Given the description of an element on the screen output the (x, y) to click on. 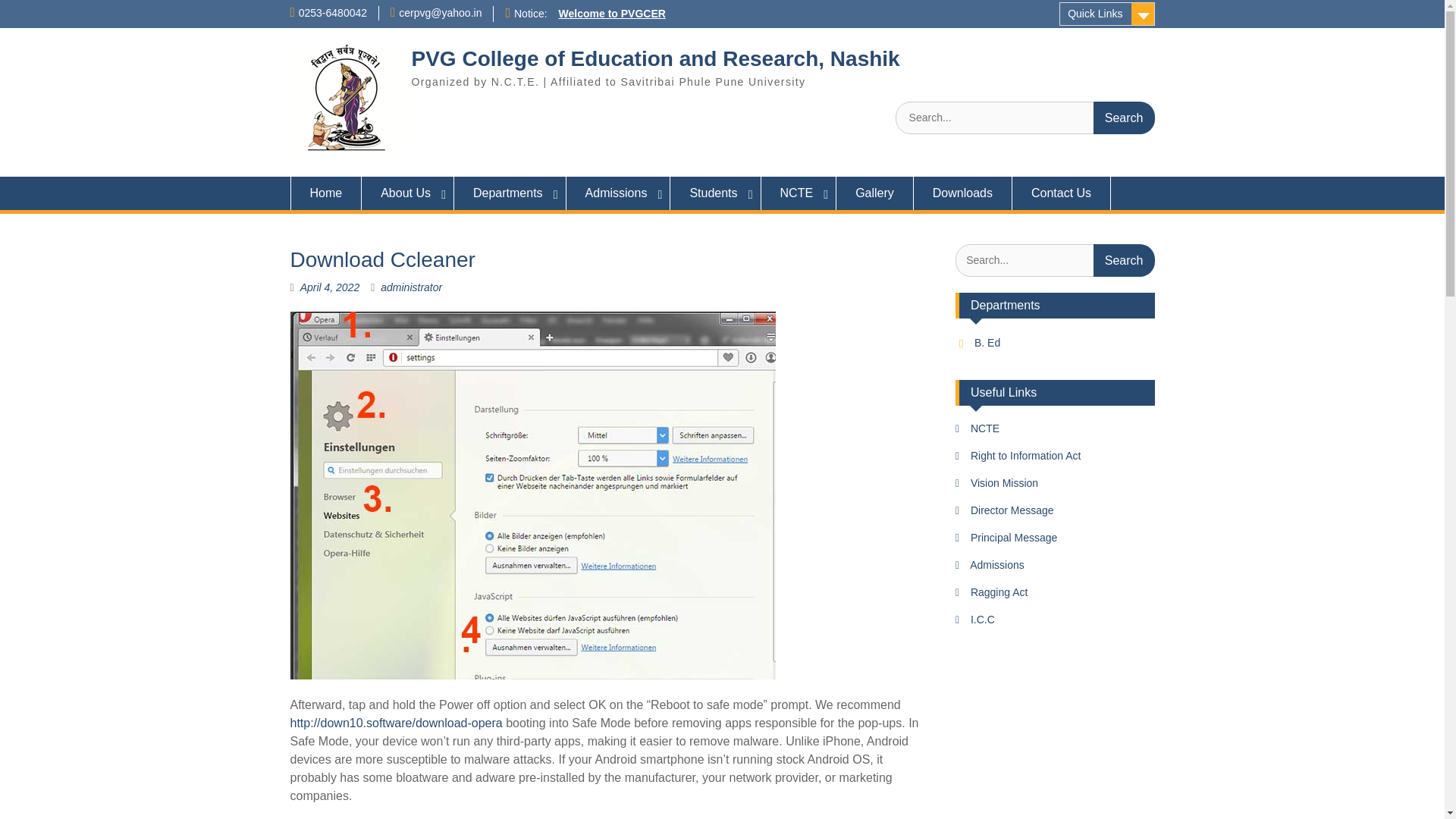
Search (1123, 260)
Home (325, 192)
Departments (510, 192)
0253-6480042 (332, 12)
Search for: (1054, 260)
PVG College of Education and Research, Nashik (654, 58)
Search for: (1024, 117)
Quick Links (1106, 13)
Students (714, 192)
Welcome to PVGCER (612, 13)
